Given the description of an element on the screen output the (x, y) to click on. 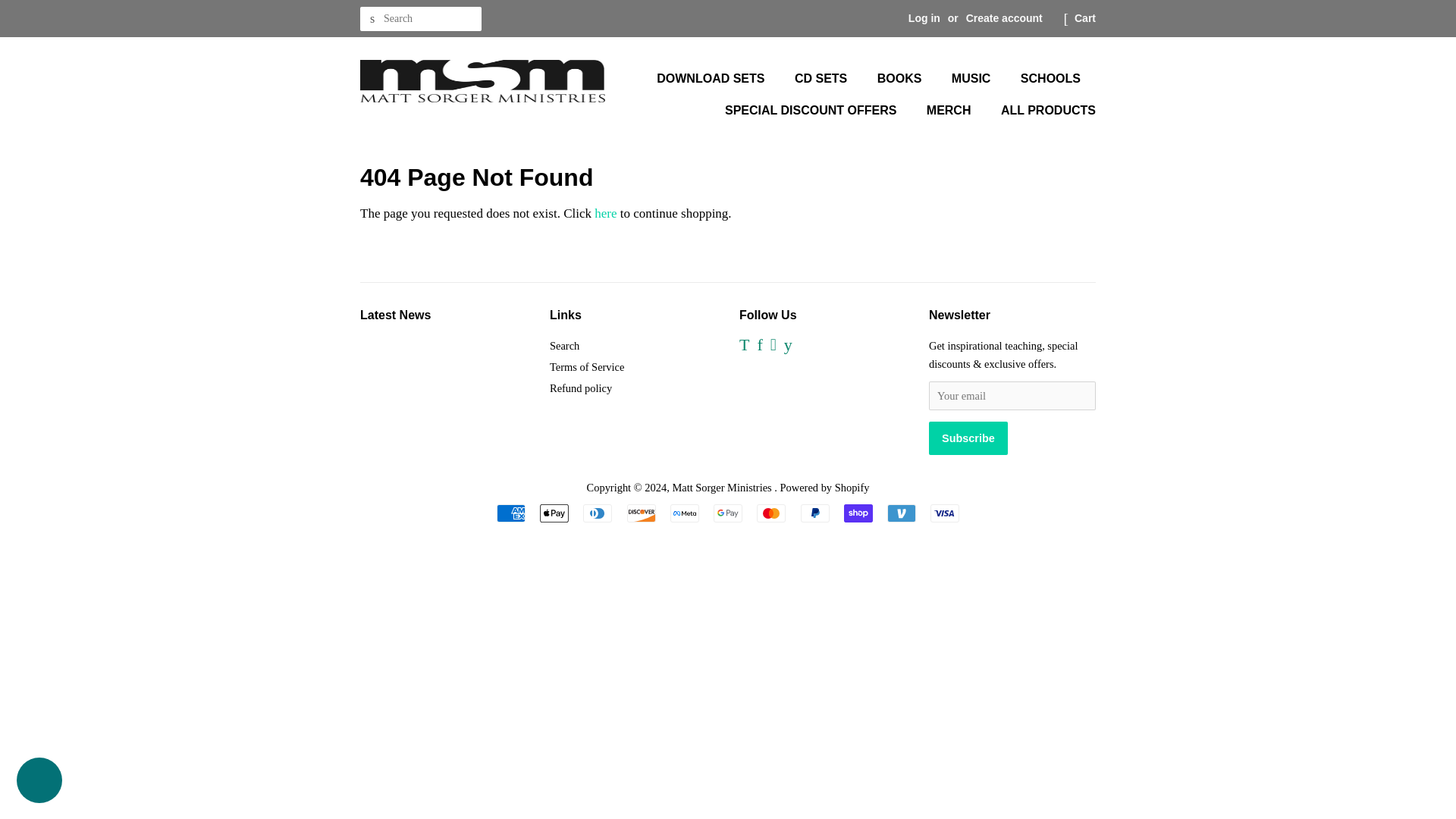
Log in (924, 18)
American Express (510, 513)
Terms of Service (587, 367)
MERCH (951, 110)
Venmo (900, 513)
Matt Sorger Ministries (722, 487)
CD SETS (822, 78)
PayPal (814, 513)
Subscribe (967, 438)
Cart (1085, 18)
